Given the description of an element on the screen output the (x, y) to click on. 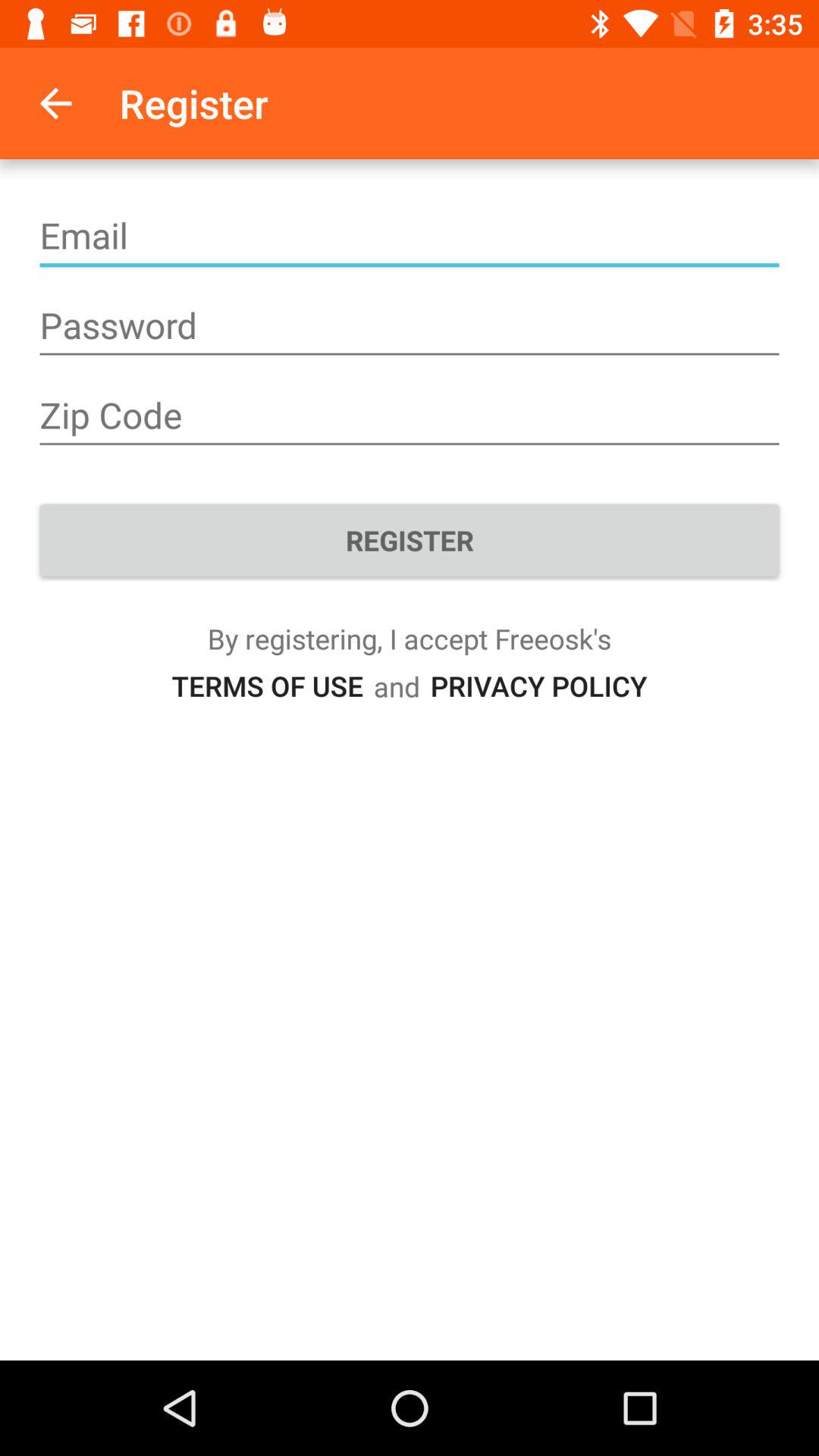
turn on the icon to the right of and (538, 685)
